Given the description of an element on the screen output the (x, y) to click on. 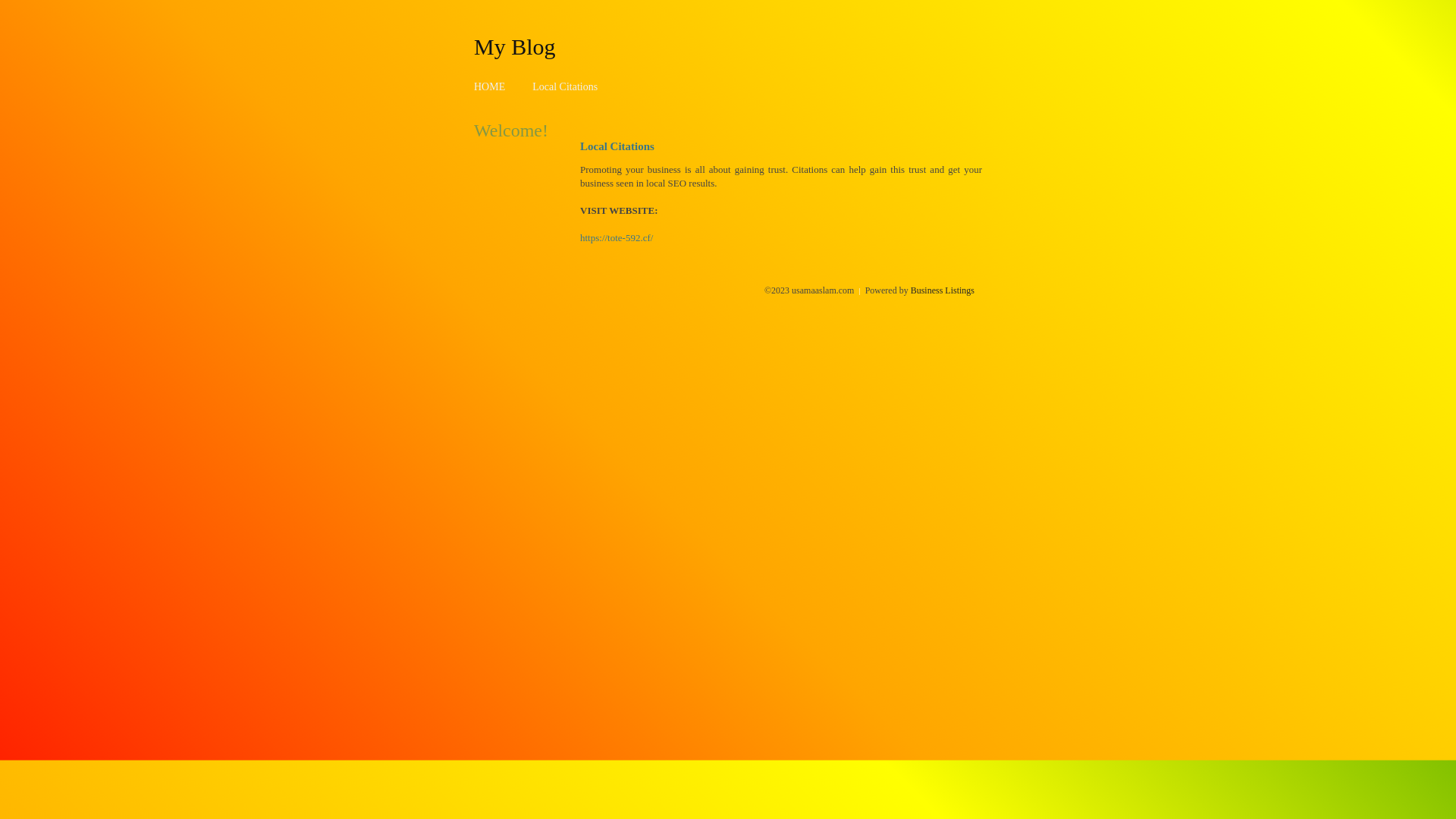
HOME Element type: text (489, 86)
Local Citations Element type: text (564, 86)
My Blog Element type: text (514, 46)
Business Listings Element type: text (942, 290)
https://tote-592.cf/ Element type: text (616, 237)
